Given the description of an element on the screen output the (x, y) to click on. 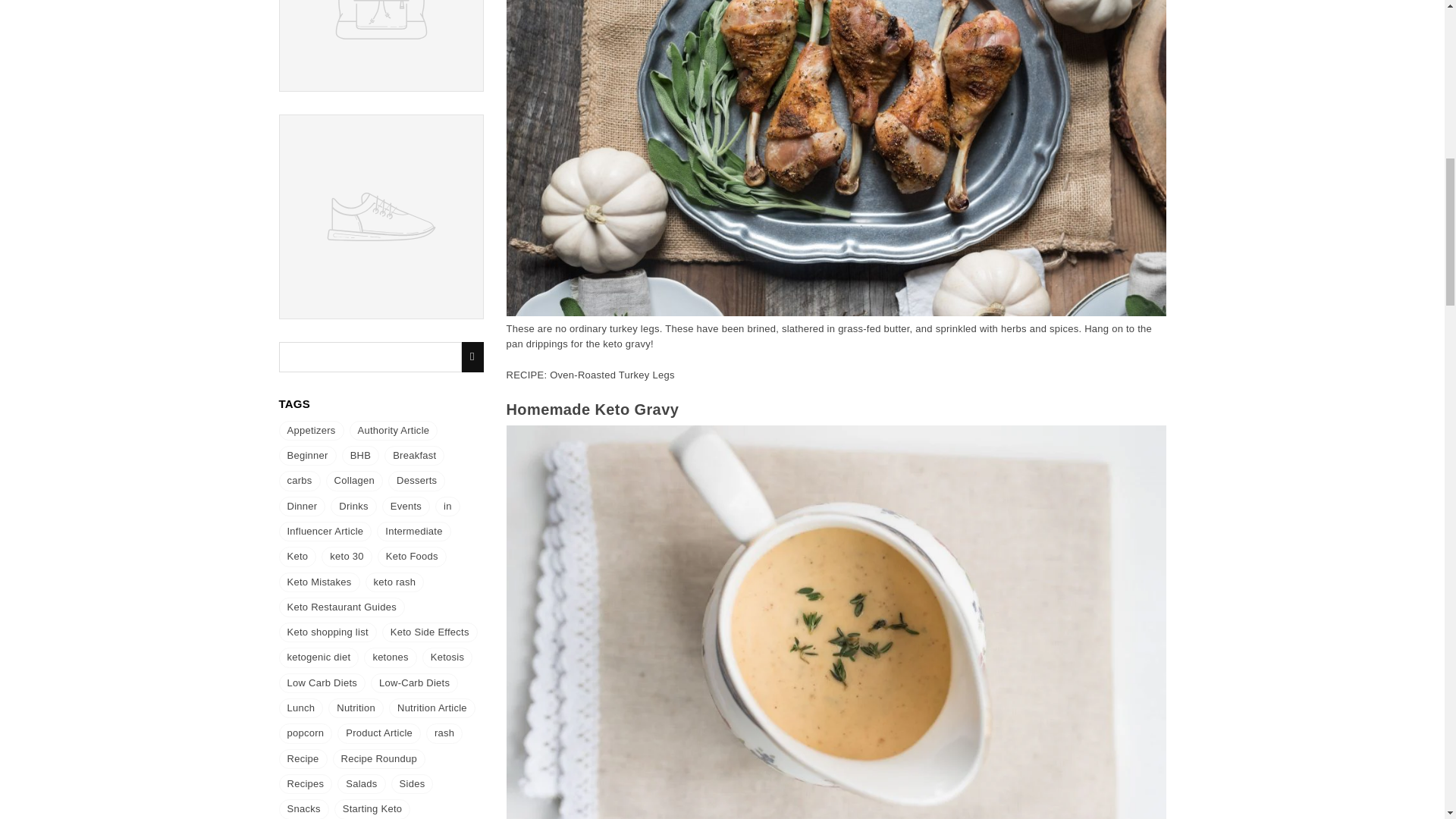
Show articles tagged Appetizers (311, 430)
Show articles tagged Authority Article (393, 430)
grass-fed (859, 328)
